Given the description of an element on the screen output the (x, y) to click on. 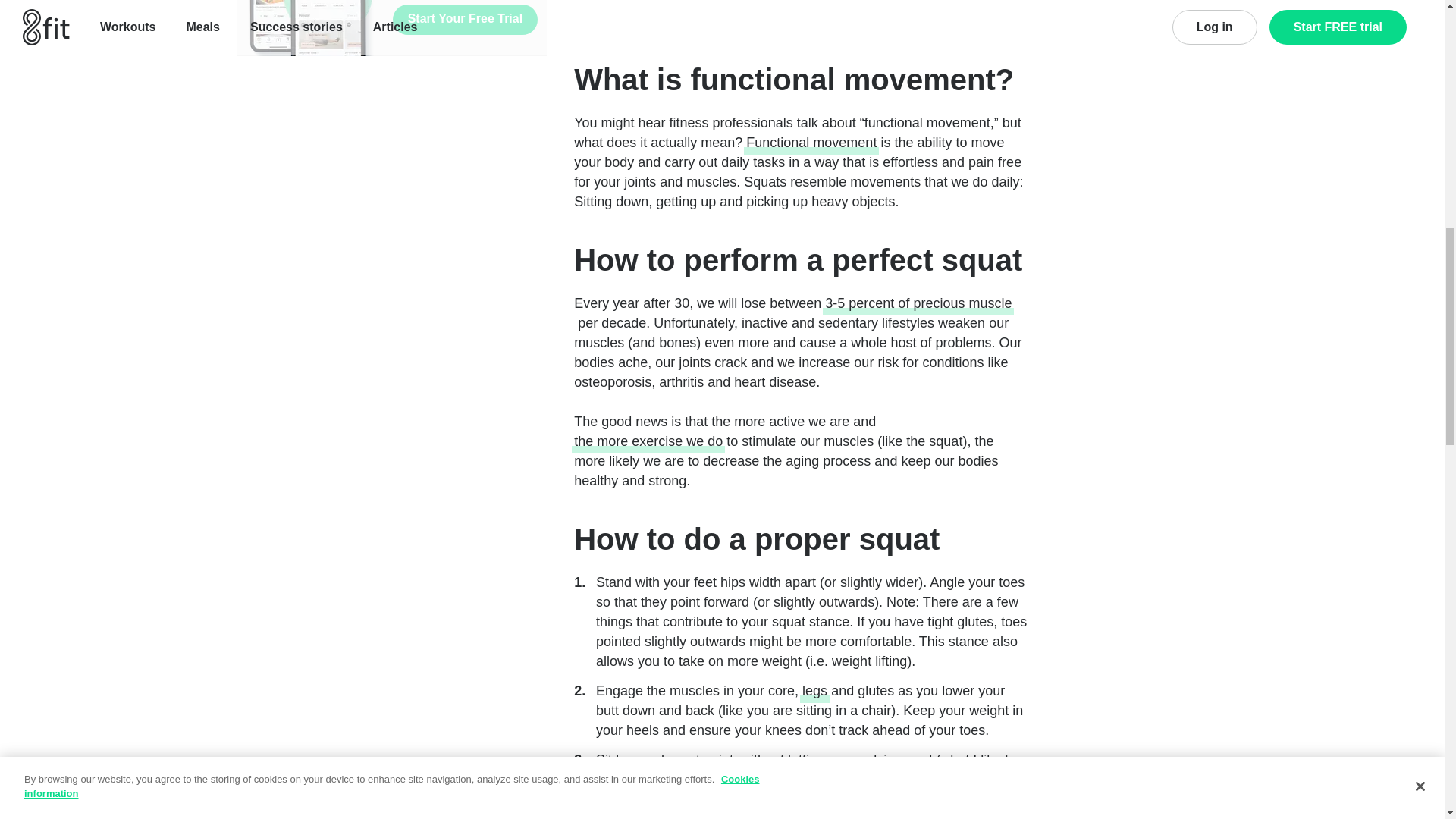
the more exercise we do (647, 441)
3-5 percent of precious muscle (918, 302)
Embedded YouTube video - how to squat (800, 12)
legs (814, 690)
Start Your Free Trial (465, 19)
Functional movement (810, 142)
Start Your Free Trial (465, 19)
